Given the description of an element on the screen output the (x, y) to click on. 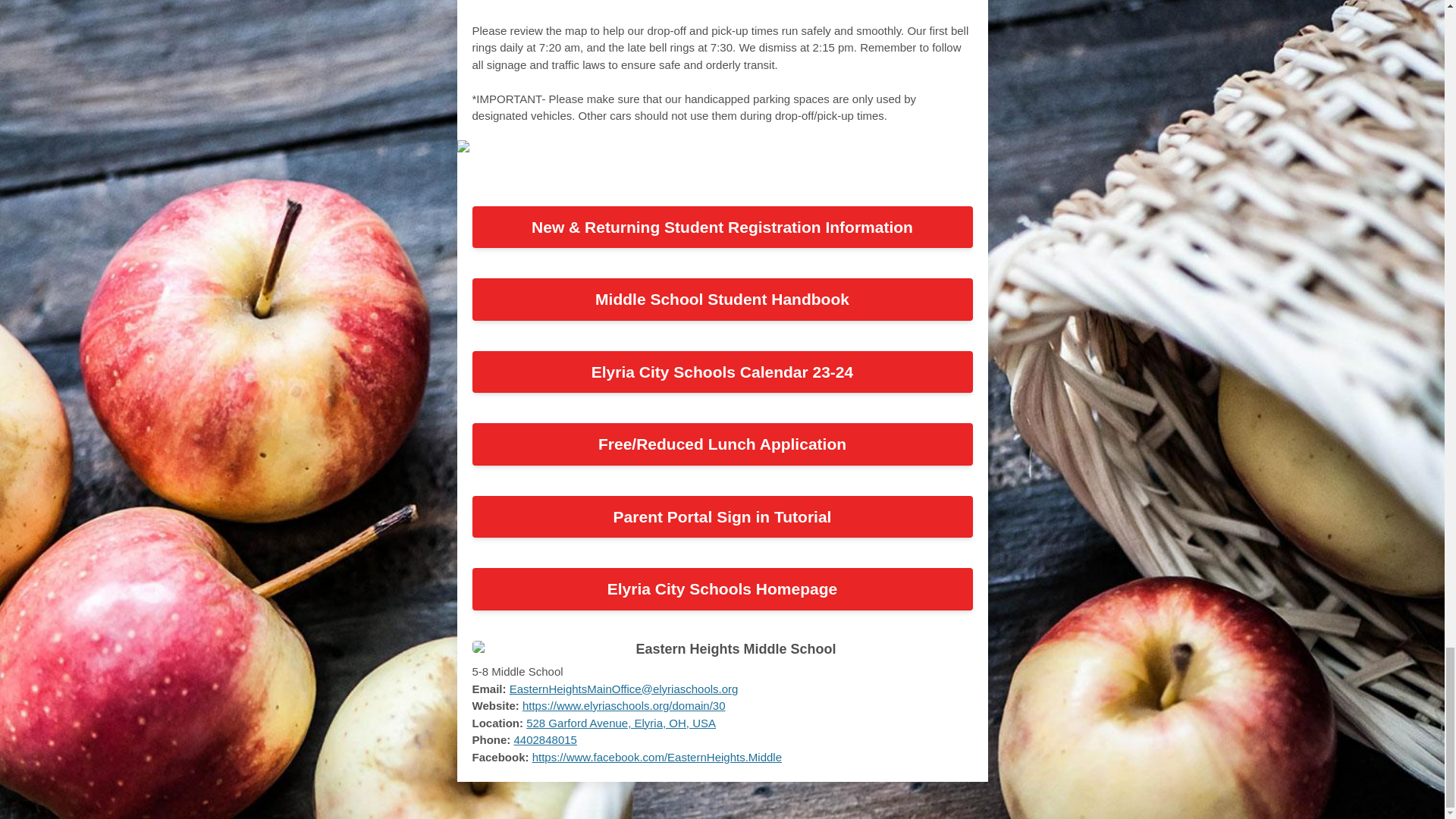
Elyria City Schools Homepage (721, 589)
4402848015 (544, 739)
Middle School Student Handbook (721, 299)
Parent Portal Sign in Tutorial (721, 516)
528 Garford Avenue, Elyria, OH, USA (620, 722)
Elyria City Schools Calendar 23-24 (721, 372)
